Given the description of an element on the screen output the (x, y) to click on. 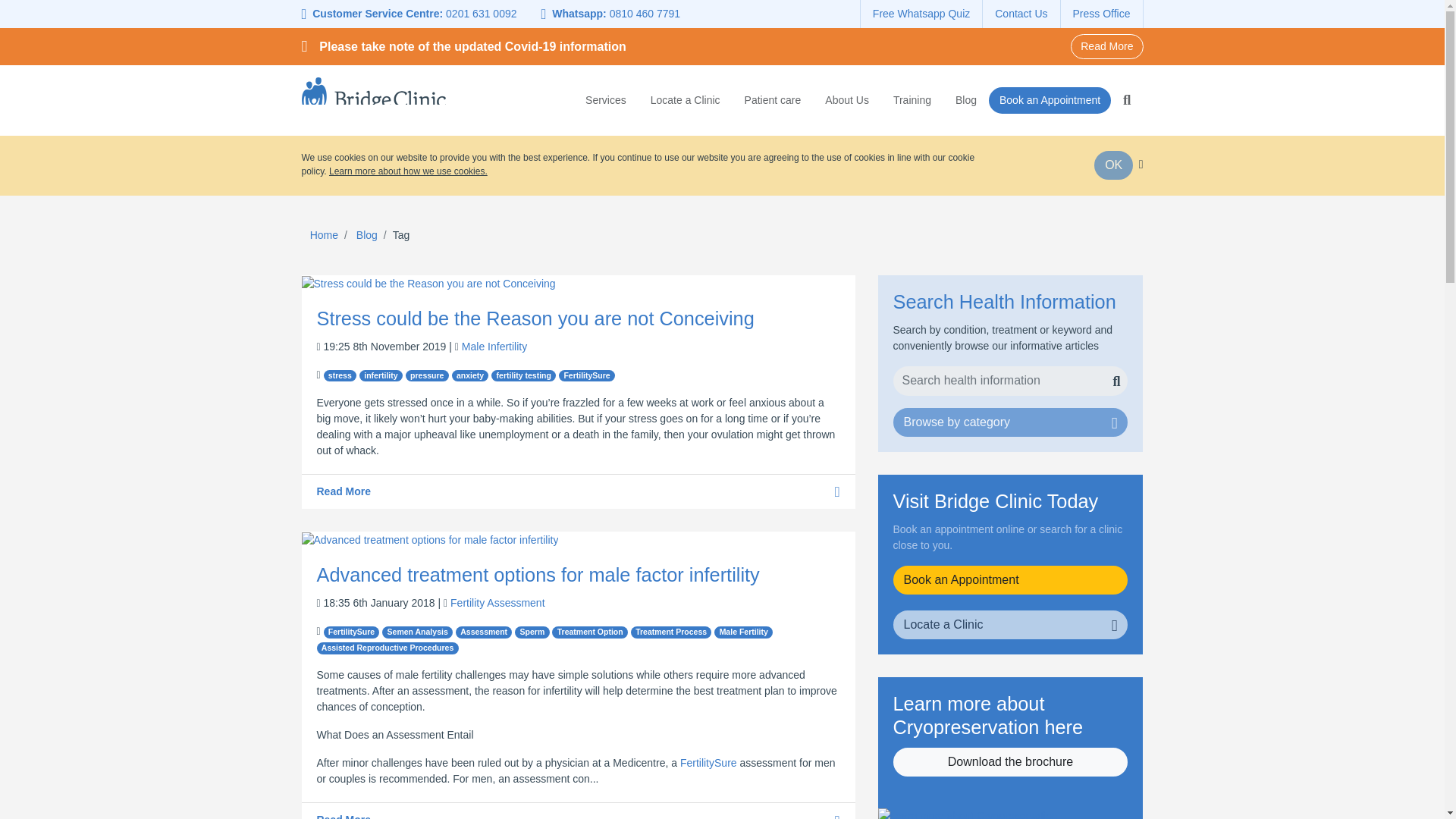
Read More (1106, 46)
Press Office (1100, 13)
Locate a Clinic (685, 97)
Free Whatsapp Quiz (920, 13)
Customer Service Centre: 0201 631 0092 (415, 13)
Blog (965, 97)
Services (612, 97)
Patient care (772, 97)
Book an Appointment (1049, 99)
About Us (846, 97)
